Given the description of an element on the screen output the (x, y) to click on. 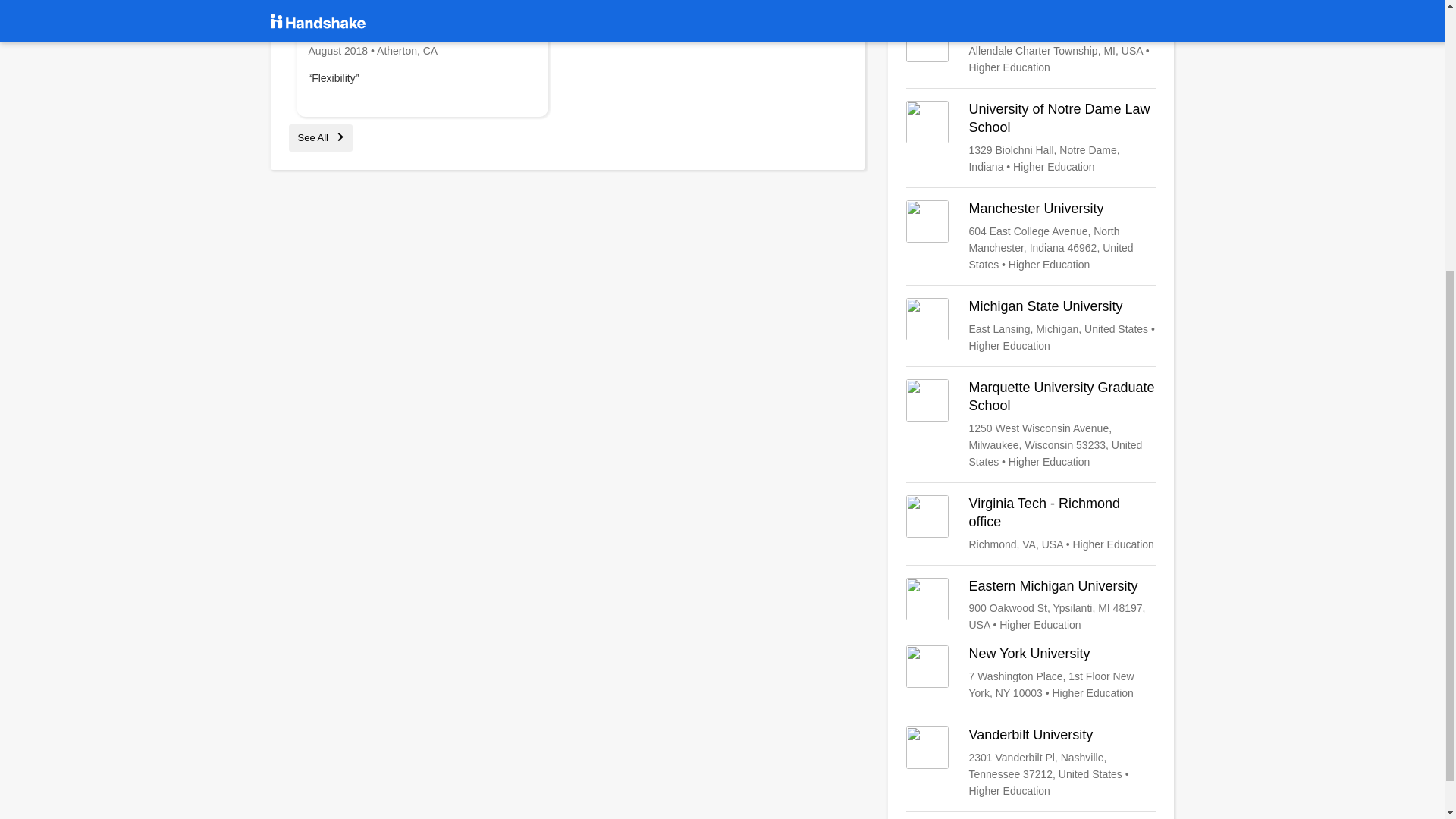
See All (320, 137)
Vanderbilt University (1030, 762)
Eastern Michigan University (1030, 605)
University of Missouri (1030, 3)
Marquette University Graduate School (1030, 424)
Virginia Tech - Richmond office (1030, 523)
Manchester University (1030, 235)
Grand Valley State University (1030, 47)
Michigan State University (1030, 325)
University of Notre Dame Law School (1030, 137)
